Given the description of an element on the screen output the (x, y) to click on. 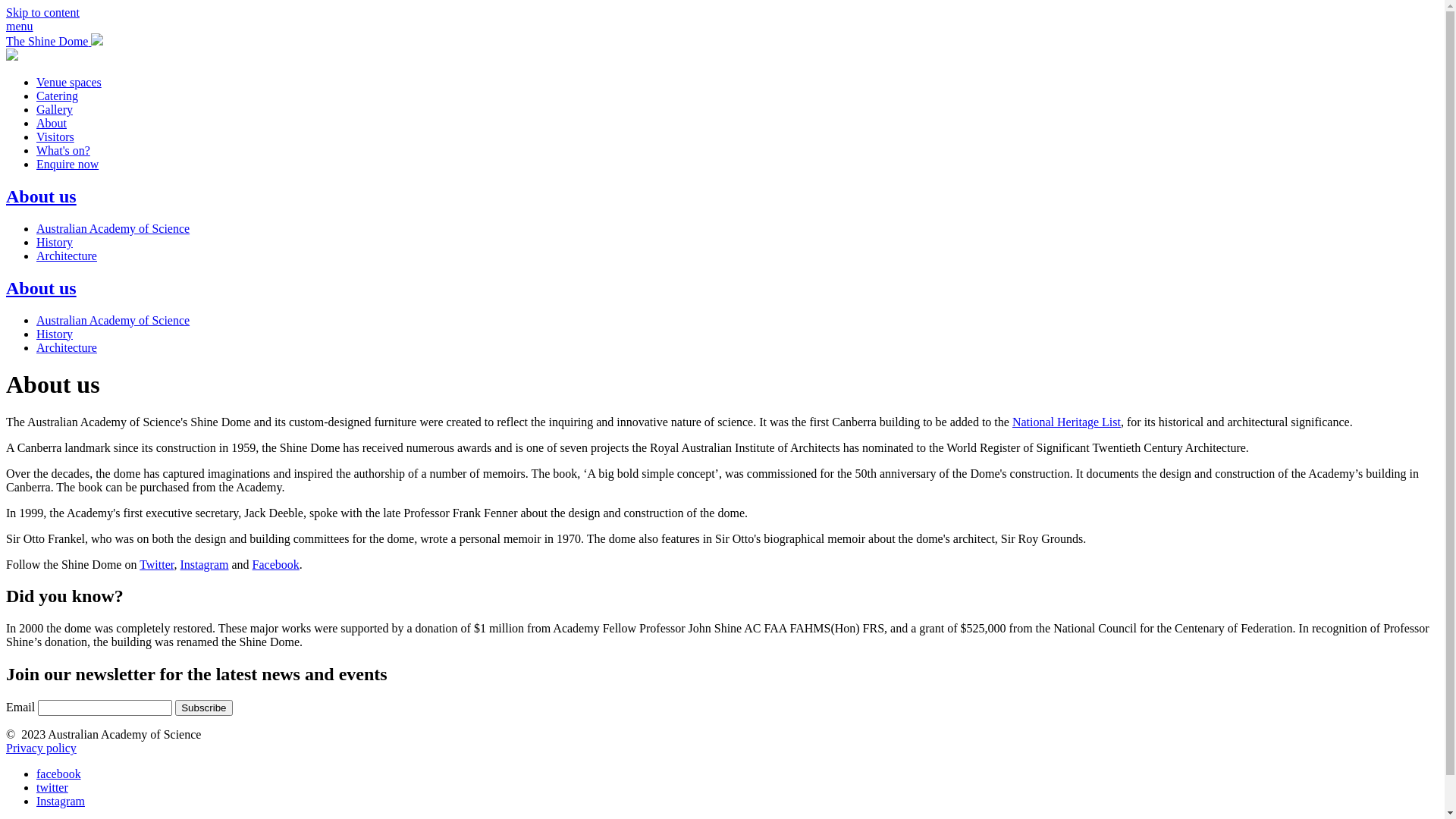
Visitors Element type: text (55, 136)
facebook Element type: text (58, 773)
What's on? Element type: text (63, 150)
Enquire now Element type: text (67, 163)
Venue spaces Element type: text (68, 81)
Privacy policy Element type: text (41, 747)
History Element type: text (54, 333)
Gallery Element type: text (54, 109)
Twitter Element type: text (156, 564)
History Element type: text (54, 241)
Skip to content Element type: text (42, 12)
menu Element type: text (19, 25)
About us Element type: text (41, 196)
Catering Element type: text (57, 95)
twitter Element type: text (52, 787)
Architecture Element type: text (66, 255)
Facebook Element type: text (275, 564)
About us Element type: text (41, 288)
National Heritage List Element type: text (1066, 421)
Australian Academy of Science Element type: text (112, 319)
Subscribe Element type: text (203, 707)
The Shine Dome Element type: text (54, 40)
Architecture Element type: text (66, 347)
Australian Academy of Science Element type: text (112, 228)
Instagram Element type: text (60, 800)
About Element type: text (51, 122)
Instagram Element type: text (204, 564)
